Given the description of an element on the screen output the (x, y) to click on. 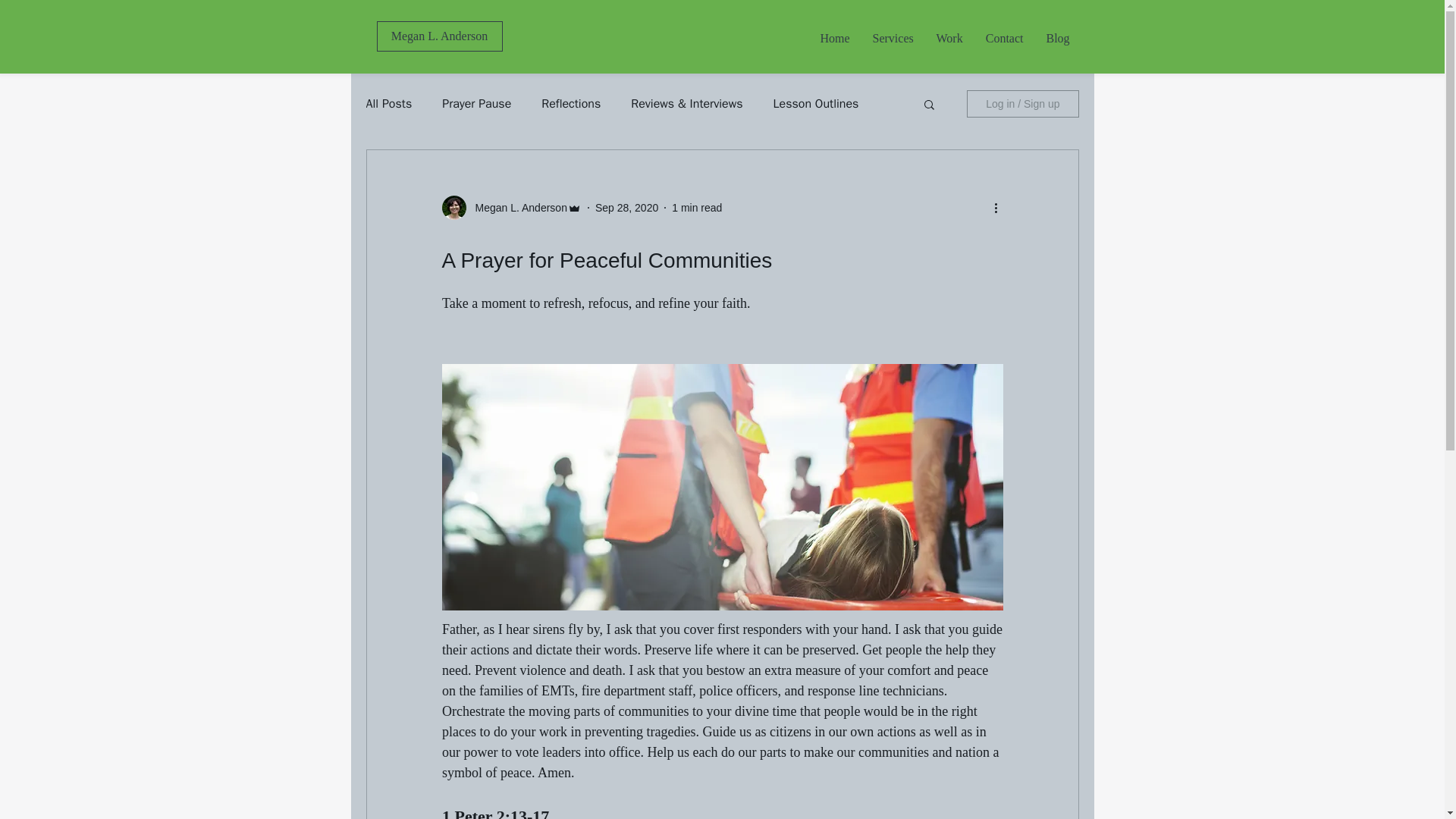
Contact (1003, 37)
All Posts (388, 103)
Prayer Pause (476, 103)
Sep 28, 2020 (626, 207)
Megan L. Anderson (515, 207)
Services (892, 37)
Work (949, 37)
Reflections (570, 103)
Megan L. Anderson (438, 36)
Home (834, 37)
1 min read (696, 207)
Blog (1056, 37)
Lesson Outlines (816, 103)
